Given the description of an element on the screen output the (x, y) to click on. 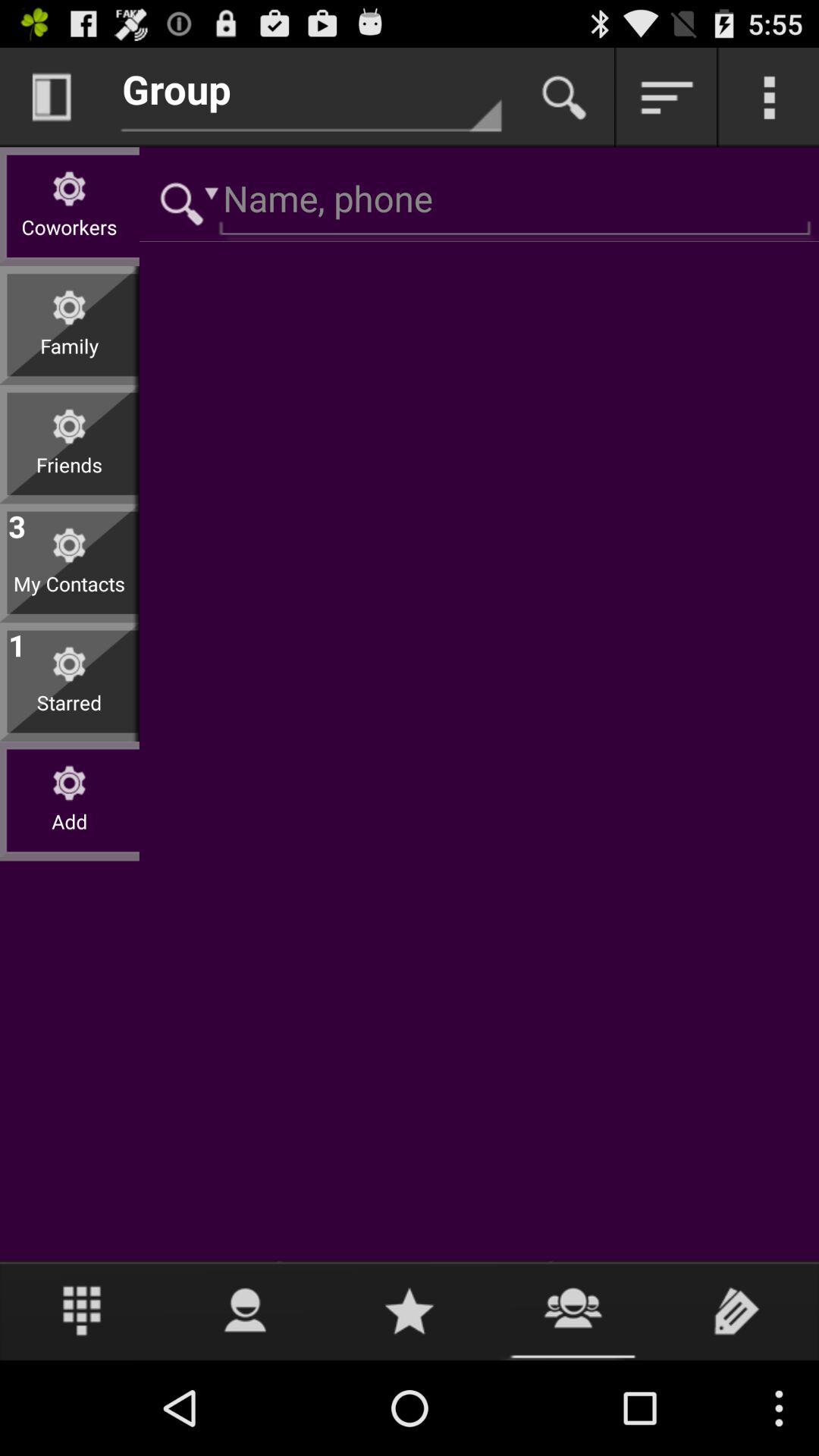
turn on the coworkers item (69, 238)
